Given the description of an element on the screen output the (x, y) to click on. 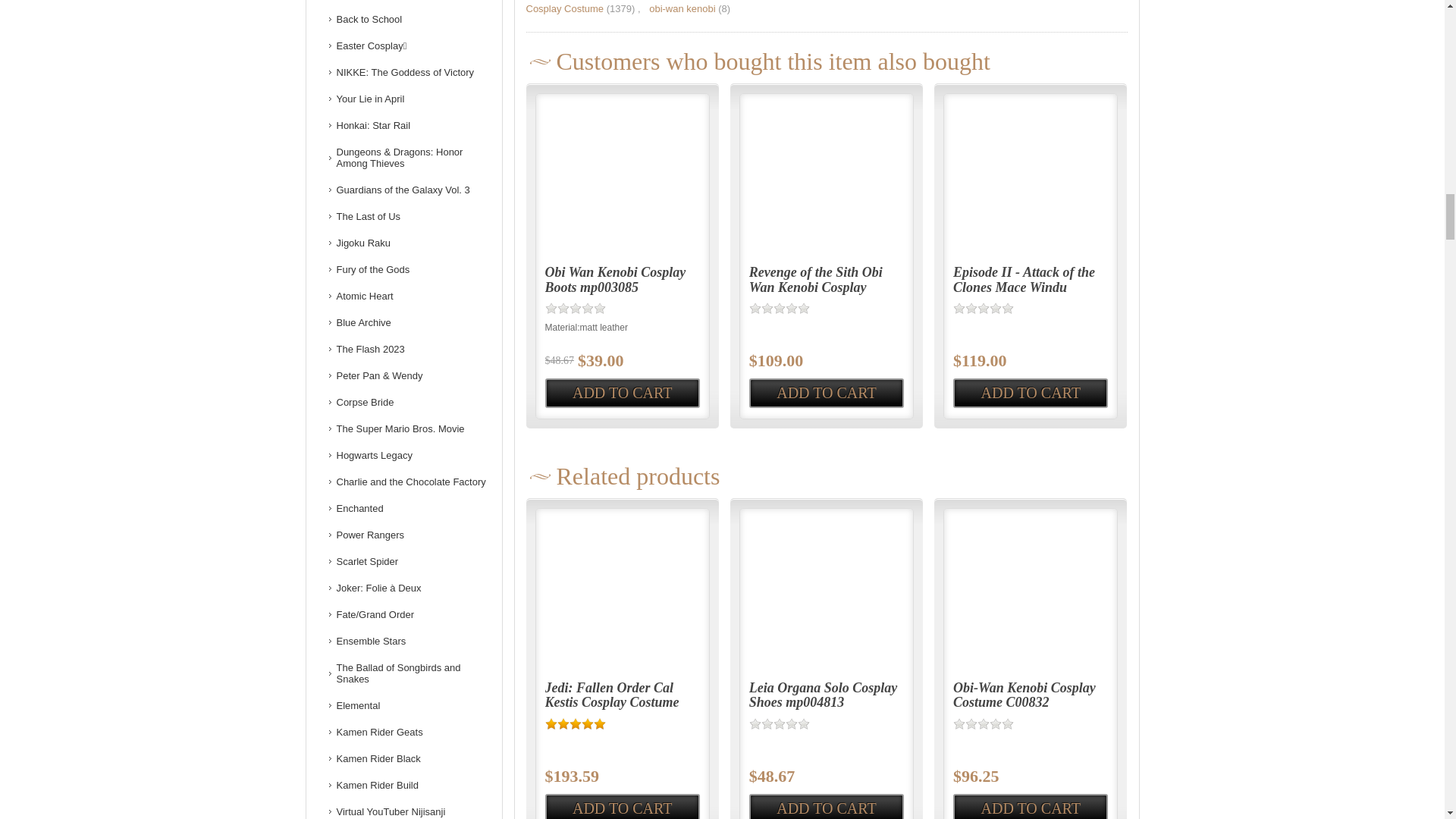
ADD TO CART (621, 392)
ADD TO CART (1030, 806)
ADD TO CART (826, 392)
ADD TO CART (826, 806)
ADD TO CART (1030, 392)
ADD TO CART (621, 806)
